Given the description of an element on the screen output the (x, y) to click on. 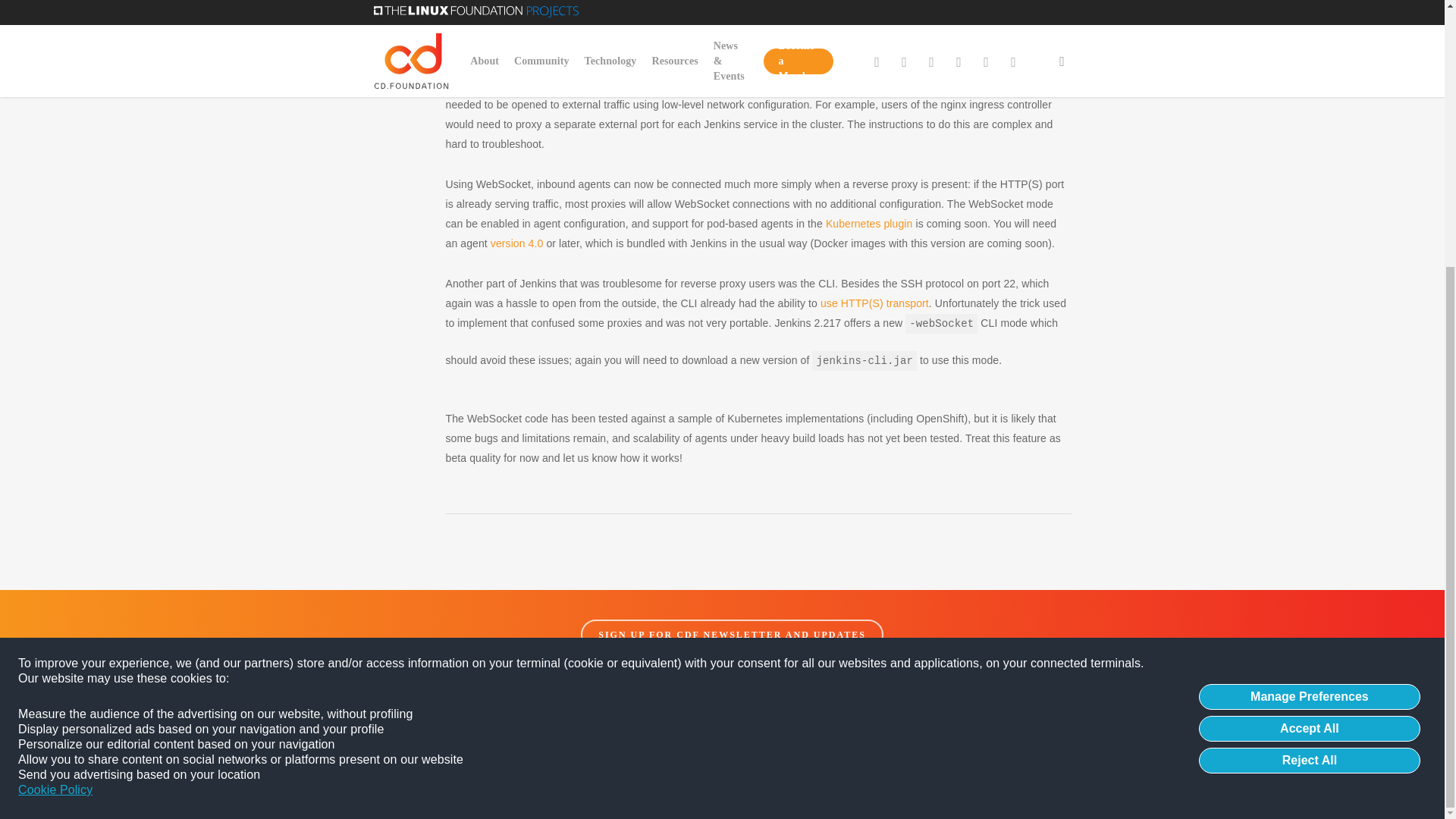
Reject All (1309, 373)
Cookie Policy (55, 403)
Manage Preferences (1309, 309)
Accept All (1309, 341)
